Given the description of an element on the screen output the (x, y) to click on. 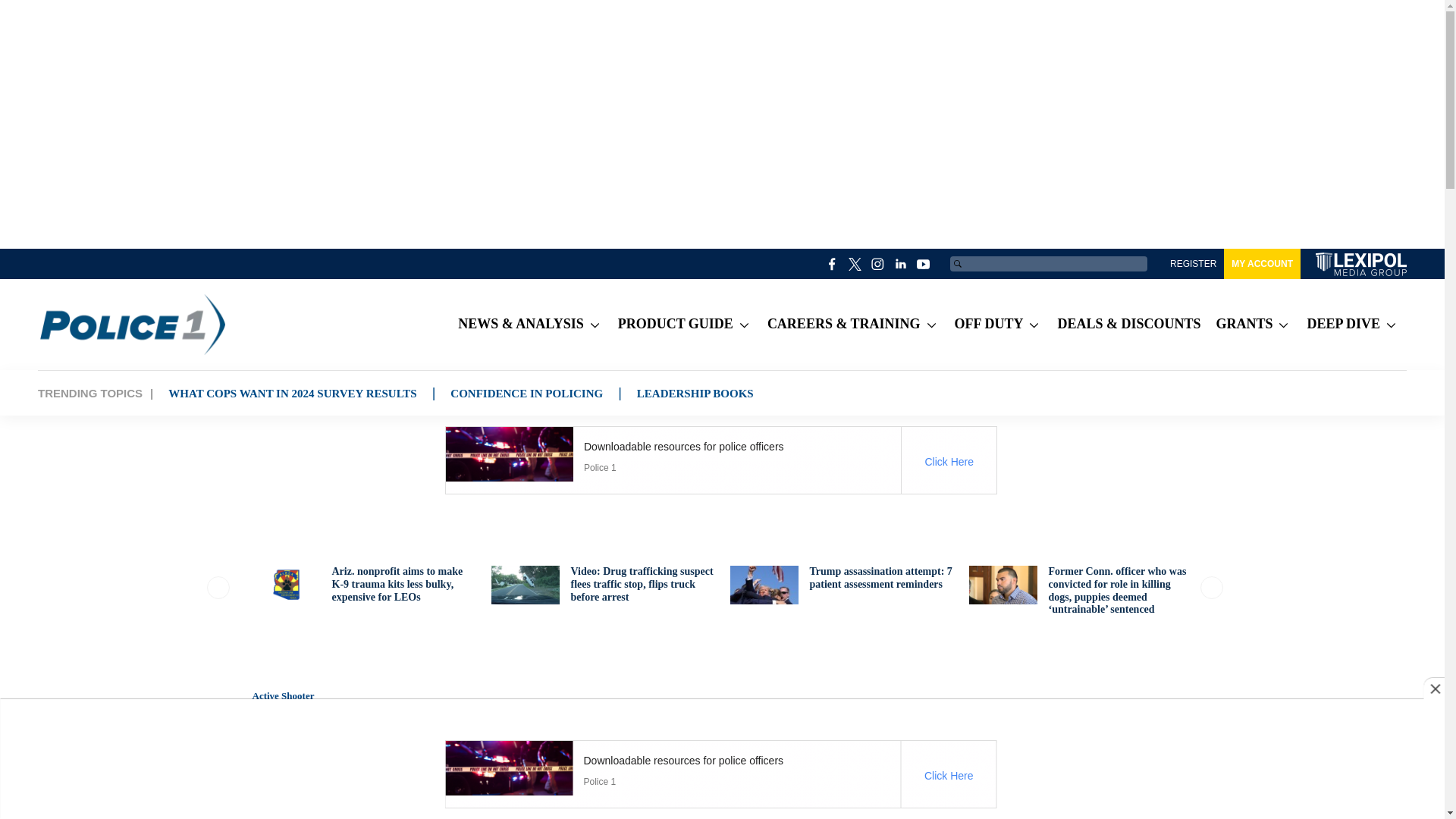
facebook (832, 263)
3rd party ad content (1068, 760)
REGISTER (1192, 263)
3rd party ad content (719, 774)
MY ACCOUNT (1262, 263)
instagram (877, 263)
youtube (923, 263)
twitter (855, 263)
3rd party ad content (719, 459)
linkedin (900, 263)
